Given the description of an element on the screen output the (x, y) to click on. 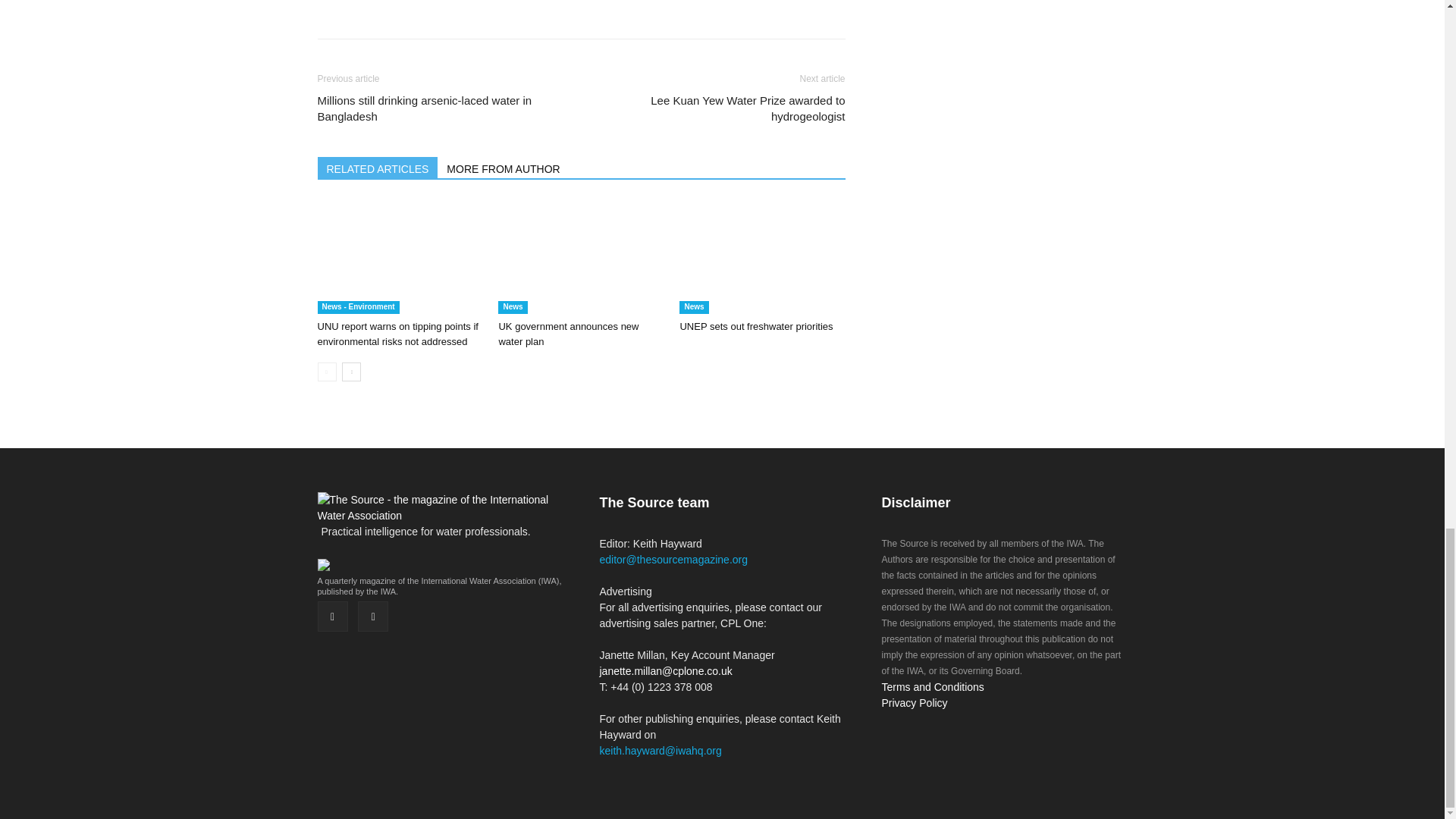
UNEP sets out freshwater priorities (755, 326)
UNEP sets out freshwater priorities (761, 256)
UK government announces new water plan (568, 334)
UK government announces new water plan (580, 256)
